Given the description of an element on the screen output the (x, y) to click on. 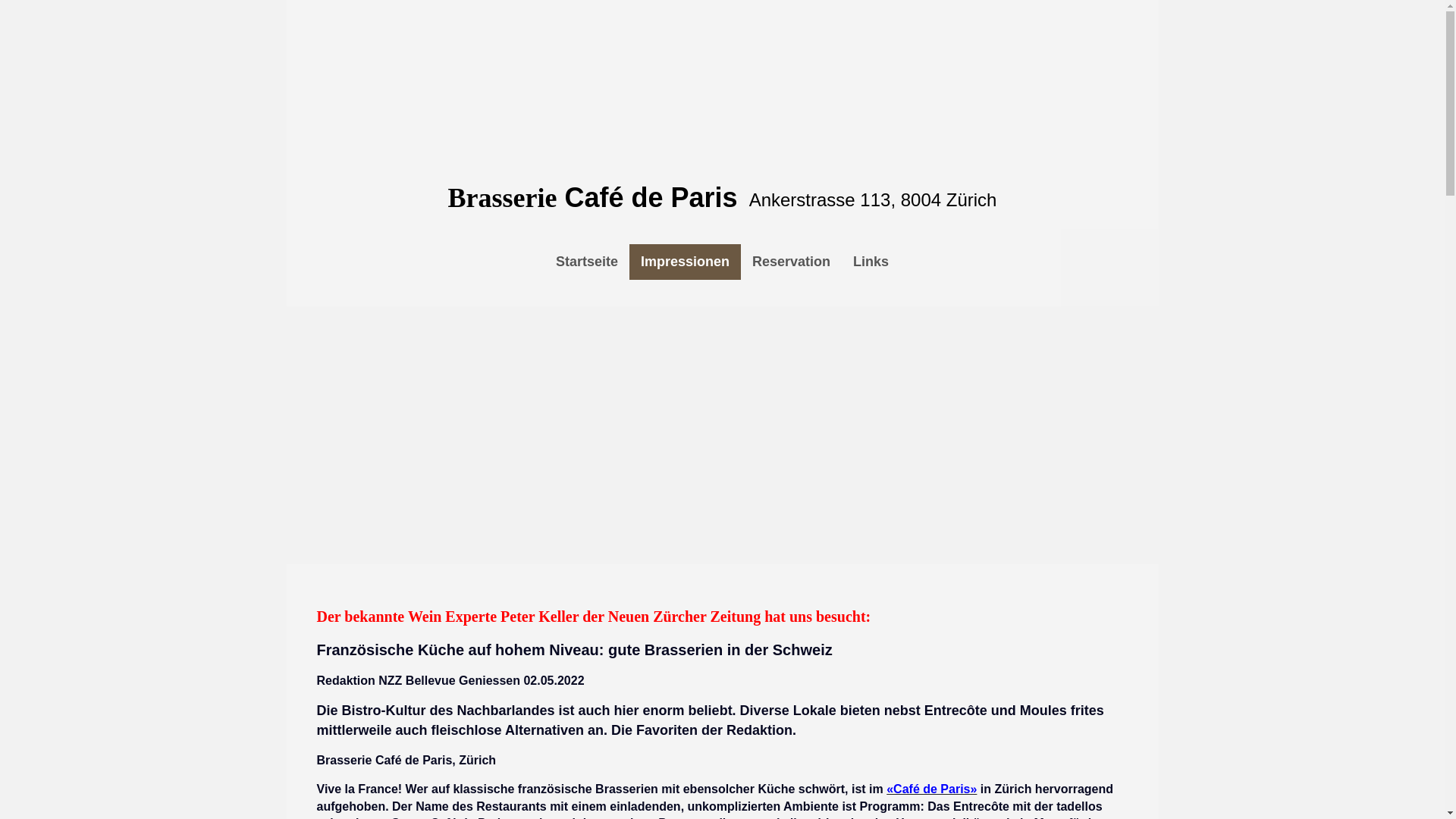
Startseite Element type: text (586, 261)
Links Element type: text (870, 261)
Reservation Element type: text (790, 261)
Impressionen Element type: text (684, 261)
